Given the description of an element on the screen output the (x, y) to click on. 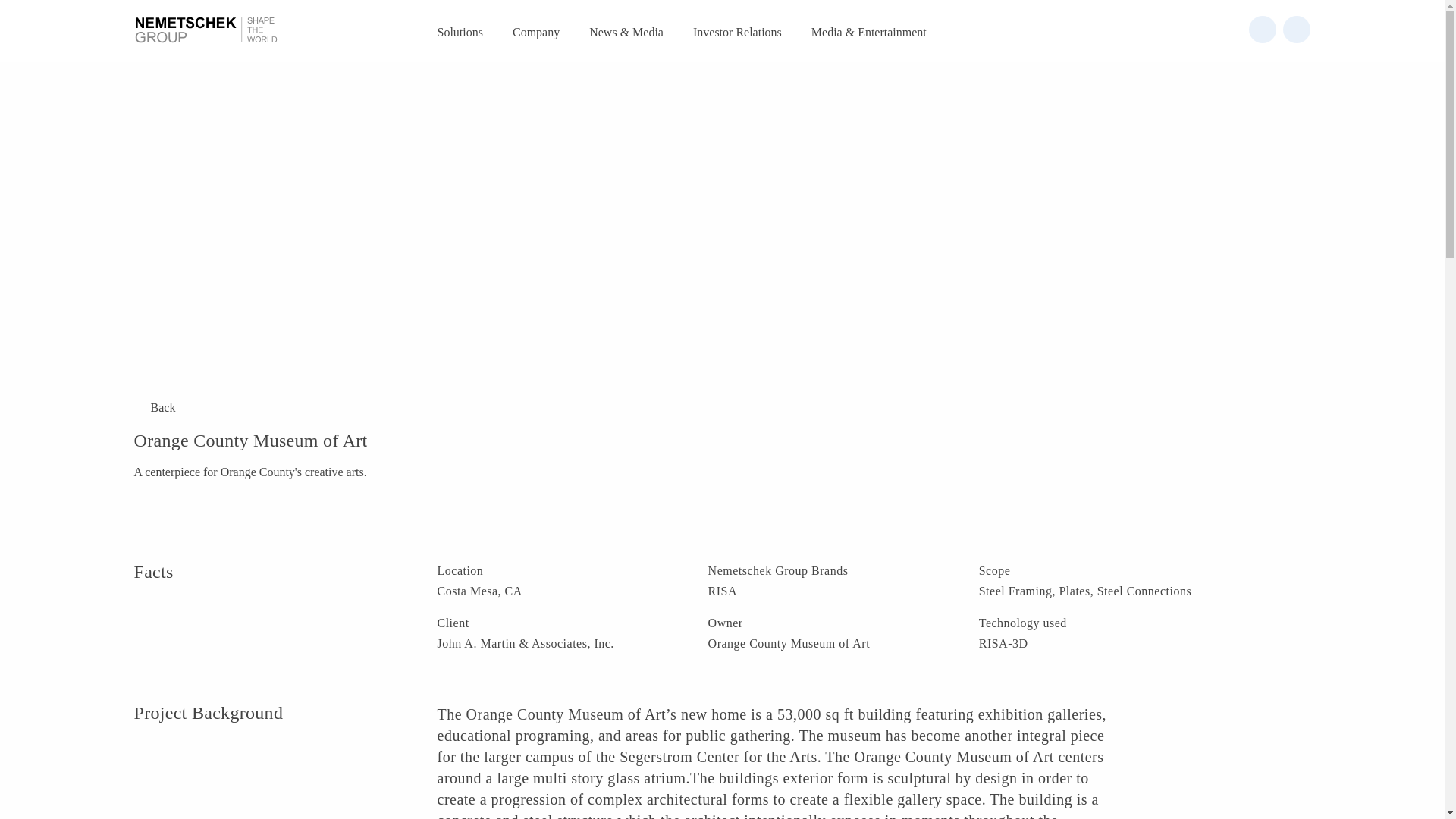
Solutions (458, 35)
